Given the description of an element on the screen output the (x, y) to click on. 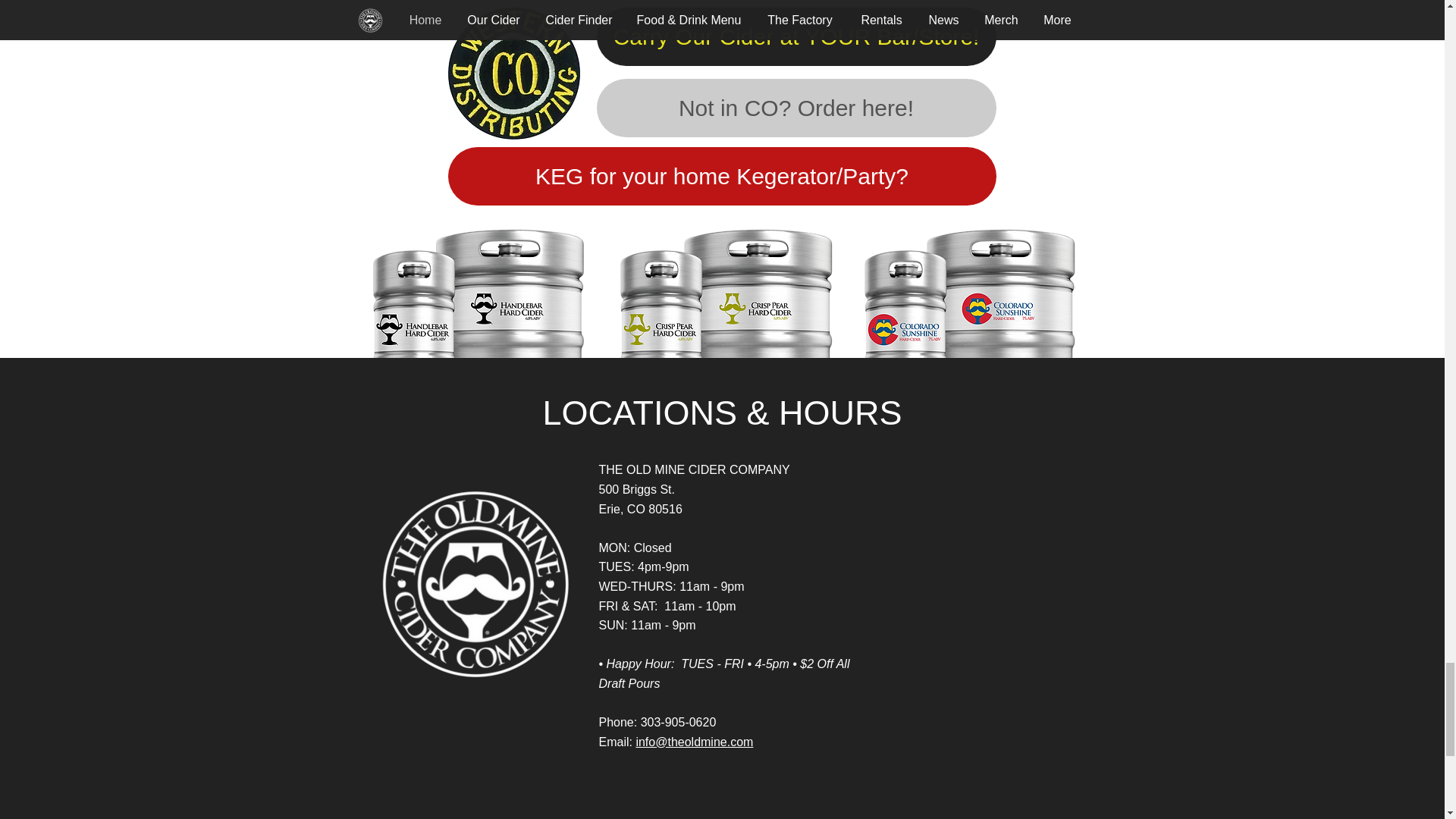
Not in CO? Order here! (795, 107)
